Given the description of an element on the screen output the (x, y) to click on. 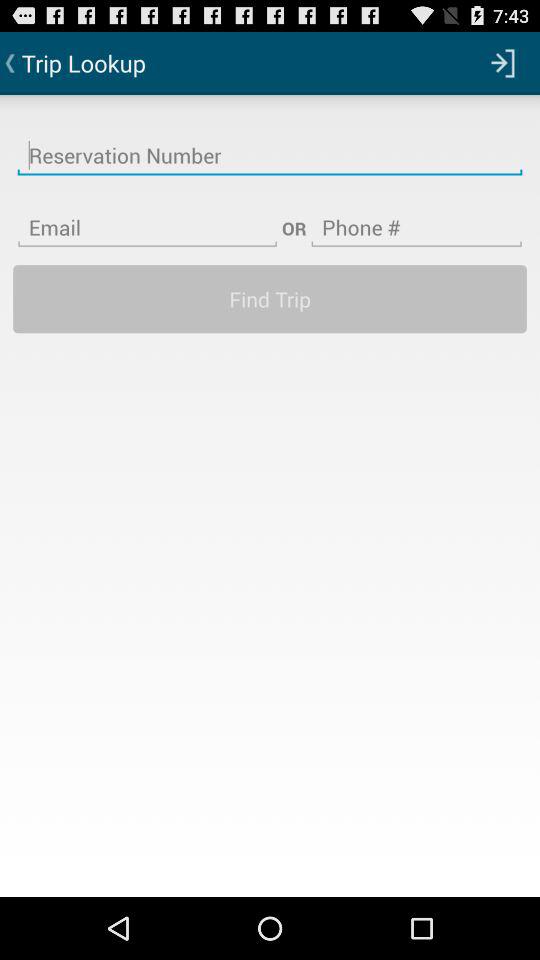
enter email (147, 215)
